Given the description of an element on the screen output the (x, y) to click on. 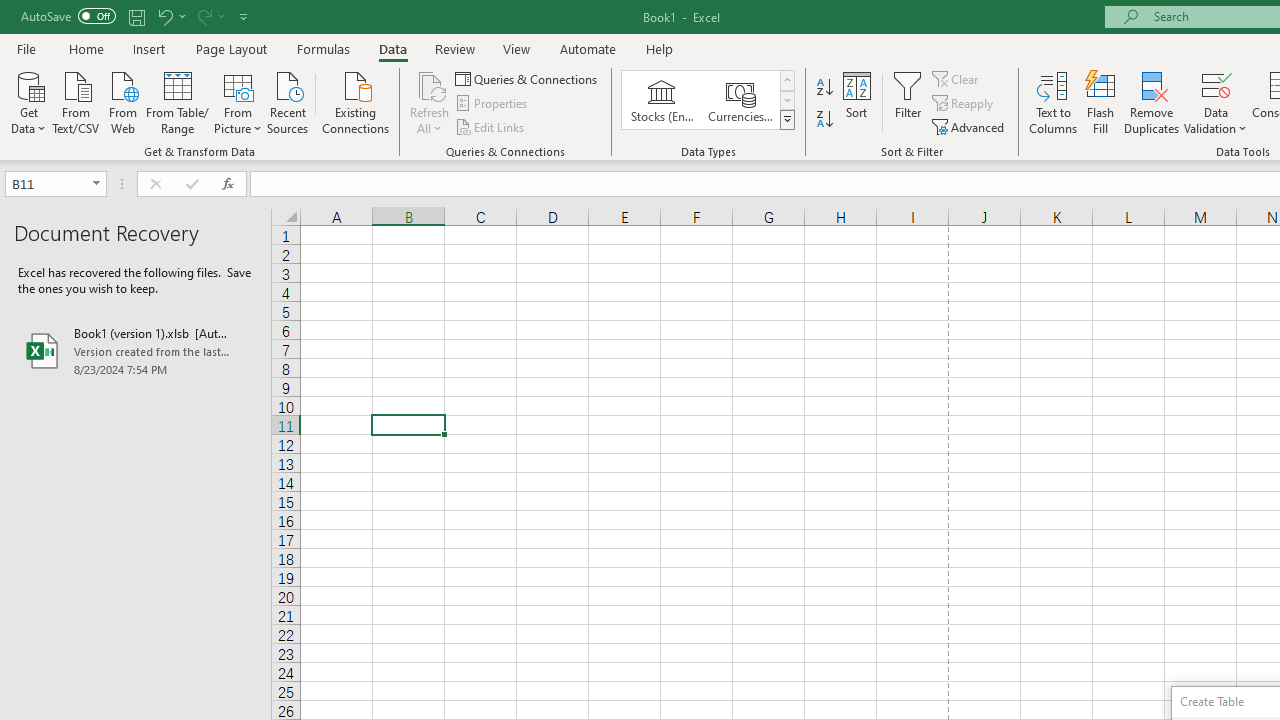
Book1 (version 1).xlsb  [AutoRecovered] (136, 350)
Recent Sources (287, 101)
Sort Z to A (824, 119)
From Text/CSV (75, 101)
Row Down (786, 100)
Refresh All (429, 102)
From Picture (238, 101)
